Given the description of an element on the screen output the (x, y) to click on. 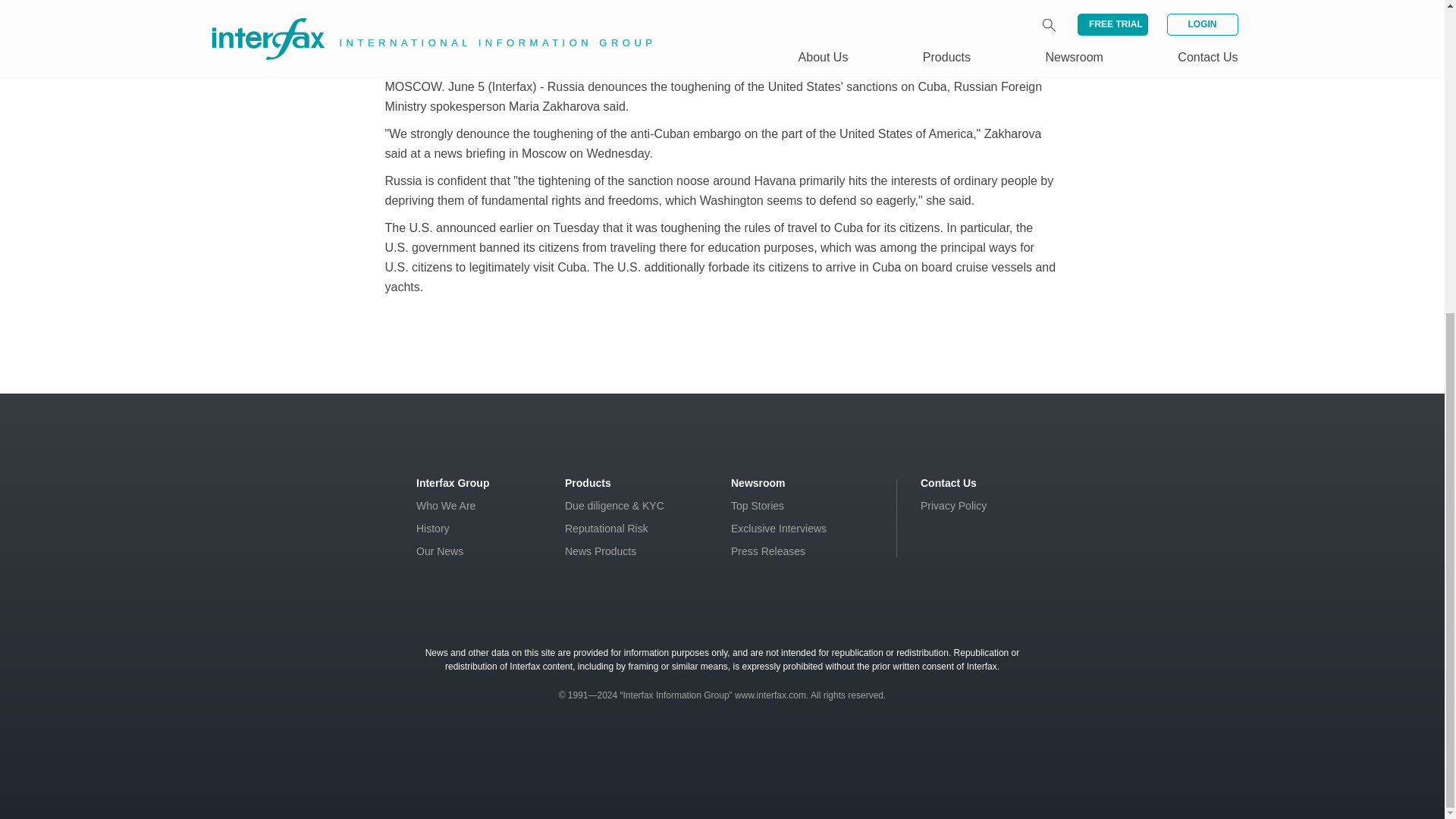
Who We Are (446, 505)
Our News (439, 551)
History (432, 528)
Interfax Group (452, 482)
